Given the description of an element on the screen output the (x, y) to click on. 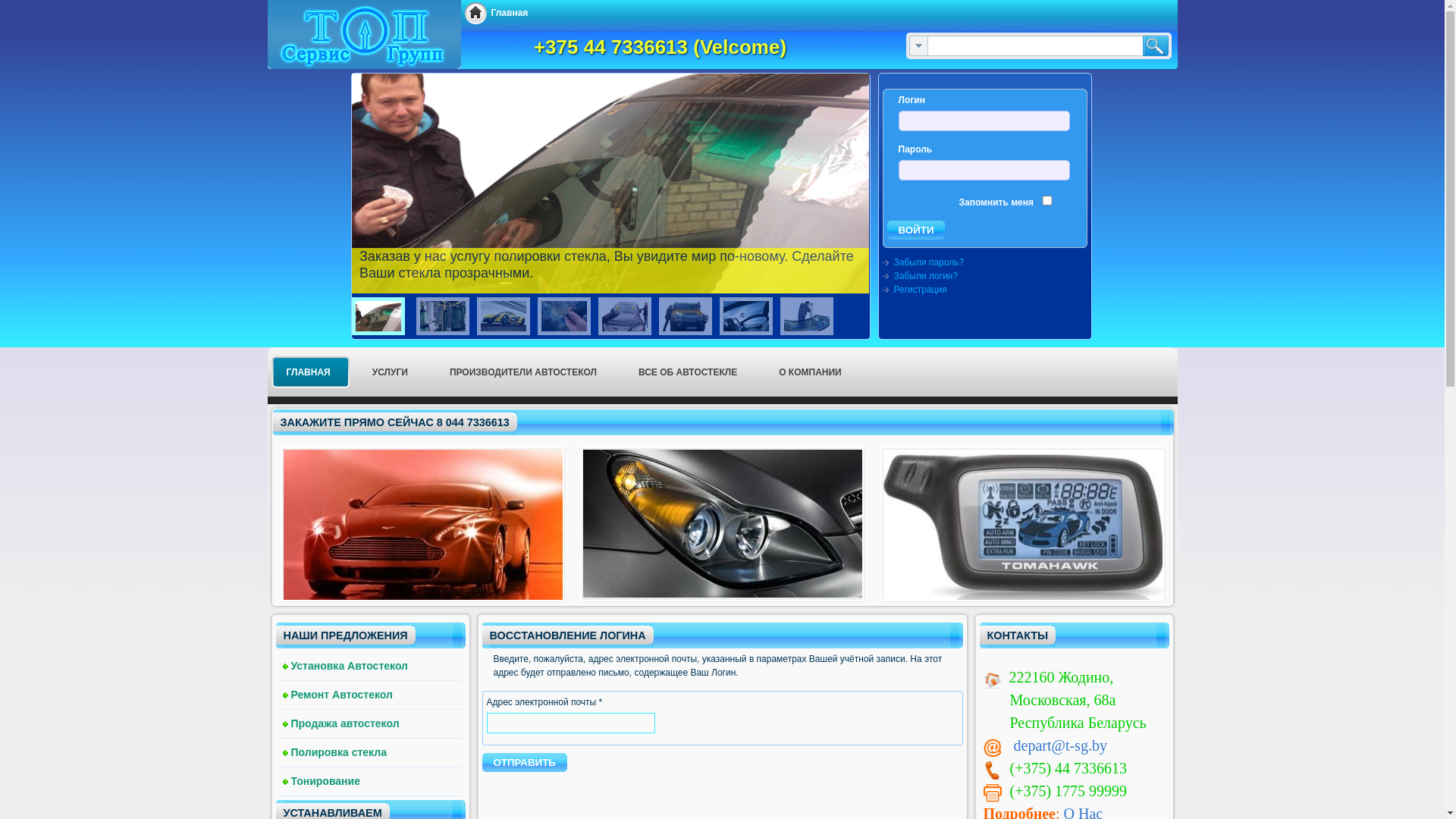
depart@t-sg.by Element type: text (1059, 745)
